Given the description of an element on the screen output the (x, y) to click on. 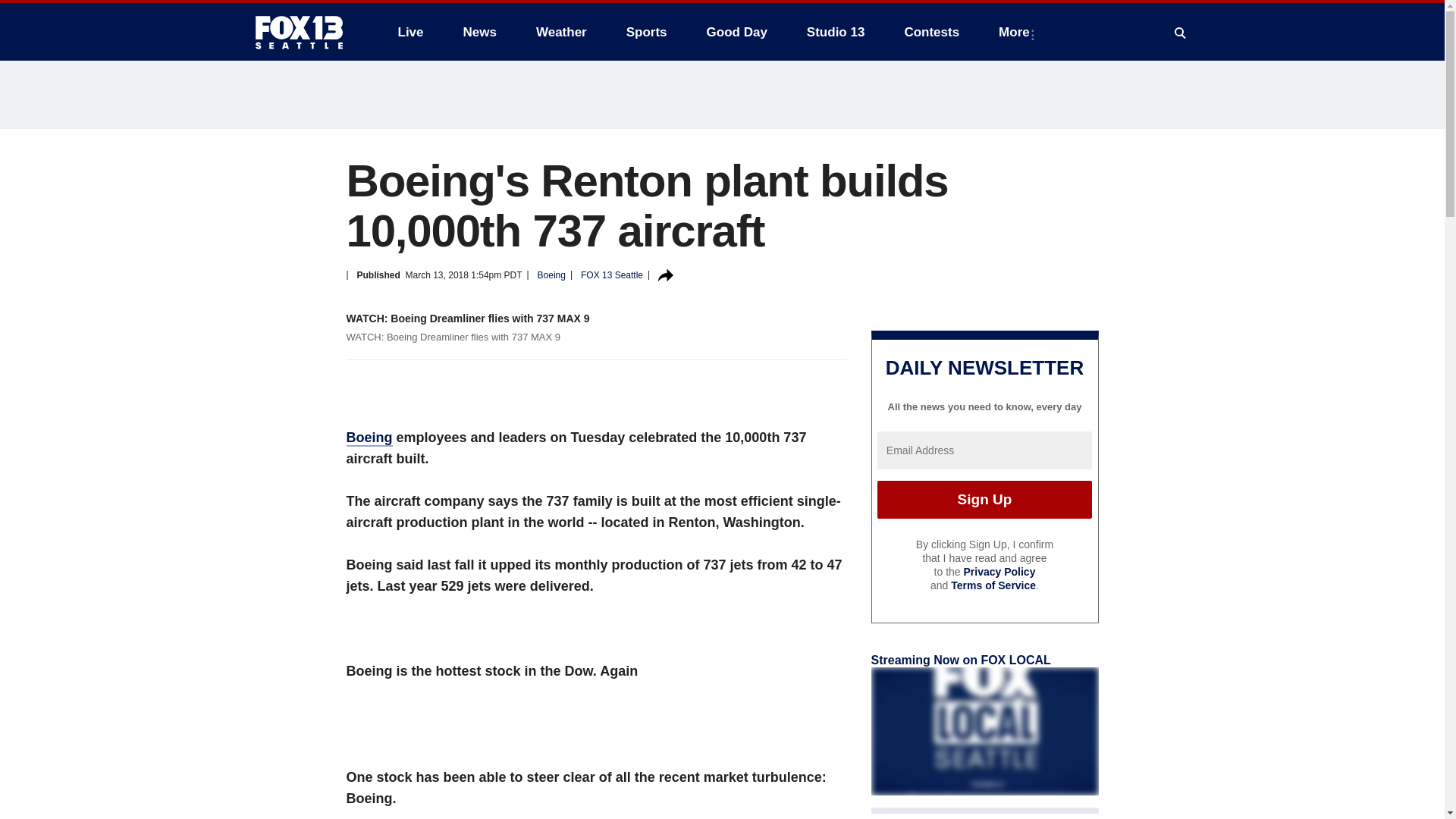
Sign Up (984, 499)
More (1017, 32)
Weather (561, 32)
Sports (646, 32)
Live (410, 32)
Contests (931, 32)
News (479, 32)
Good Day (736, 32)
Studio 13 (835, 32)
